Given the description of an element on the screen output the (x, y) to click on. 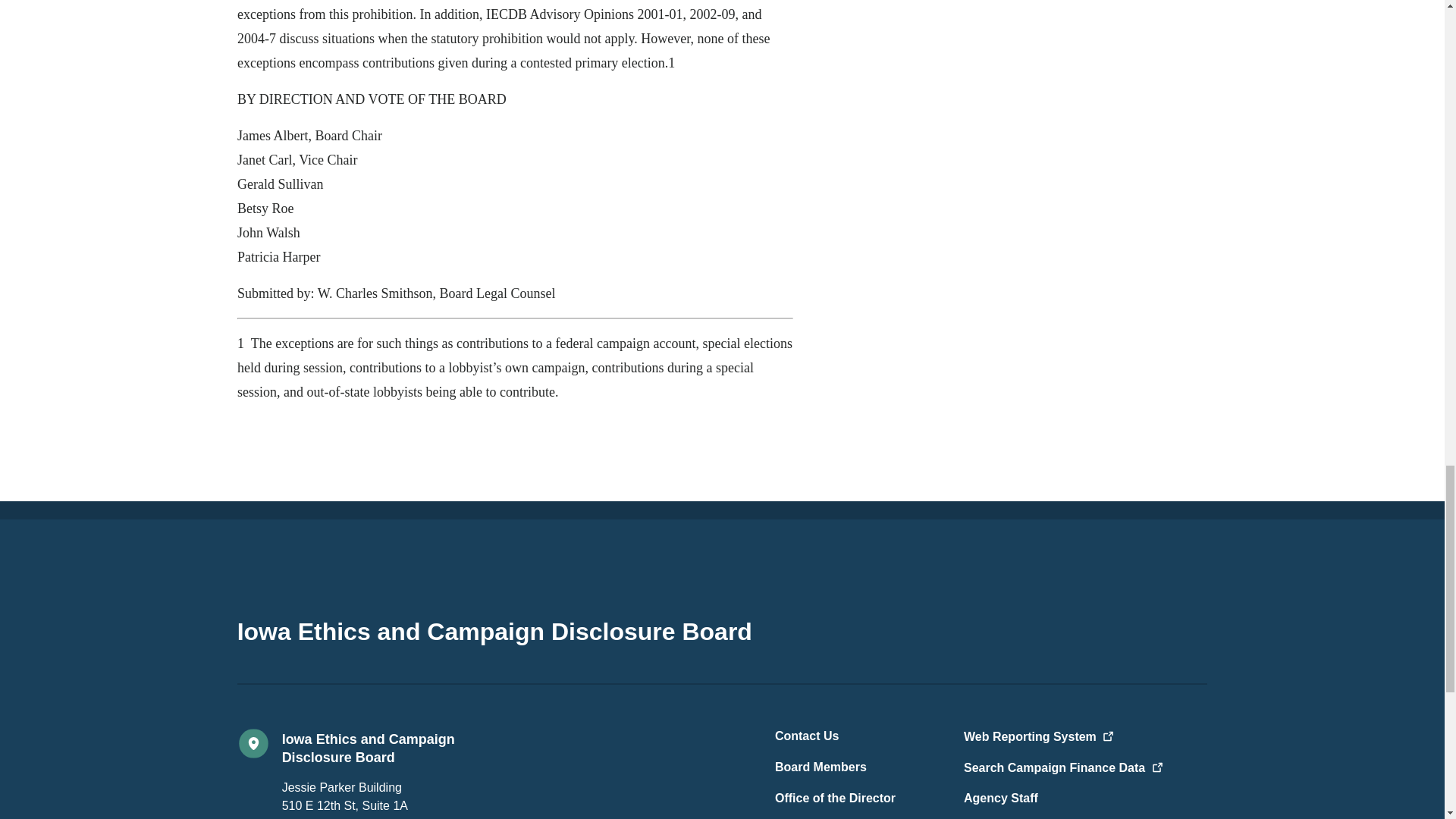
search  (1082, 767)
Access the WRS (1082, 736)
